Given the description of an element on the screen output the (x, y) to click on. 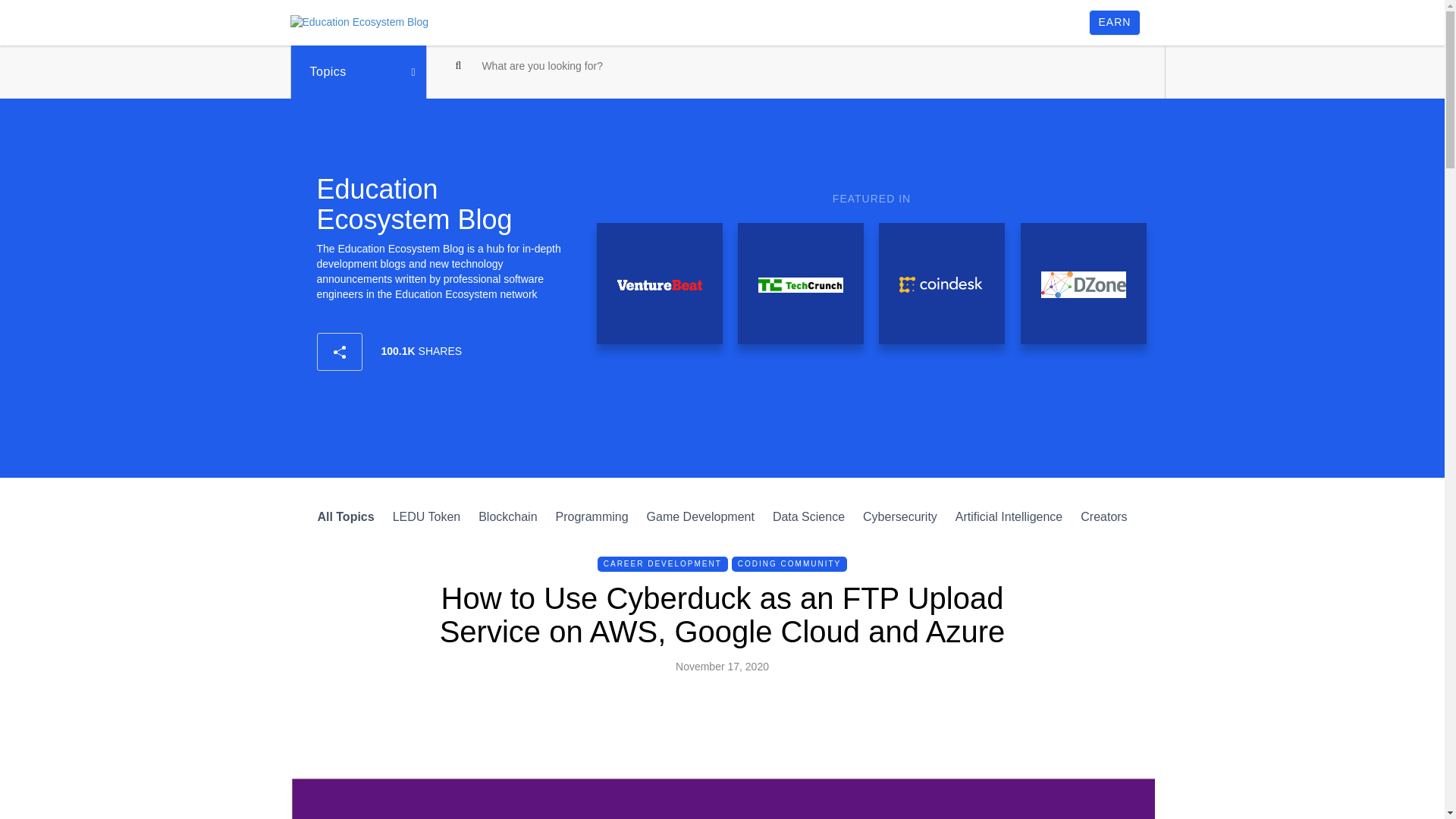
EARN (1115, 22)
All Topics (345, 516)
Blockchain (508, 516)
LEDU Token (427, 516)
Programming (592, 516)
Topics (358, 71)
